Given the description of an element on the screen output the (x, y) to click on. 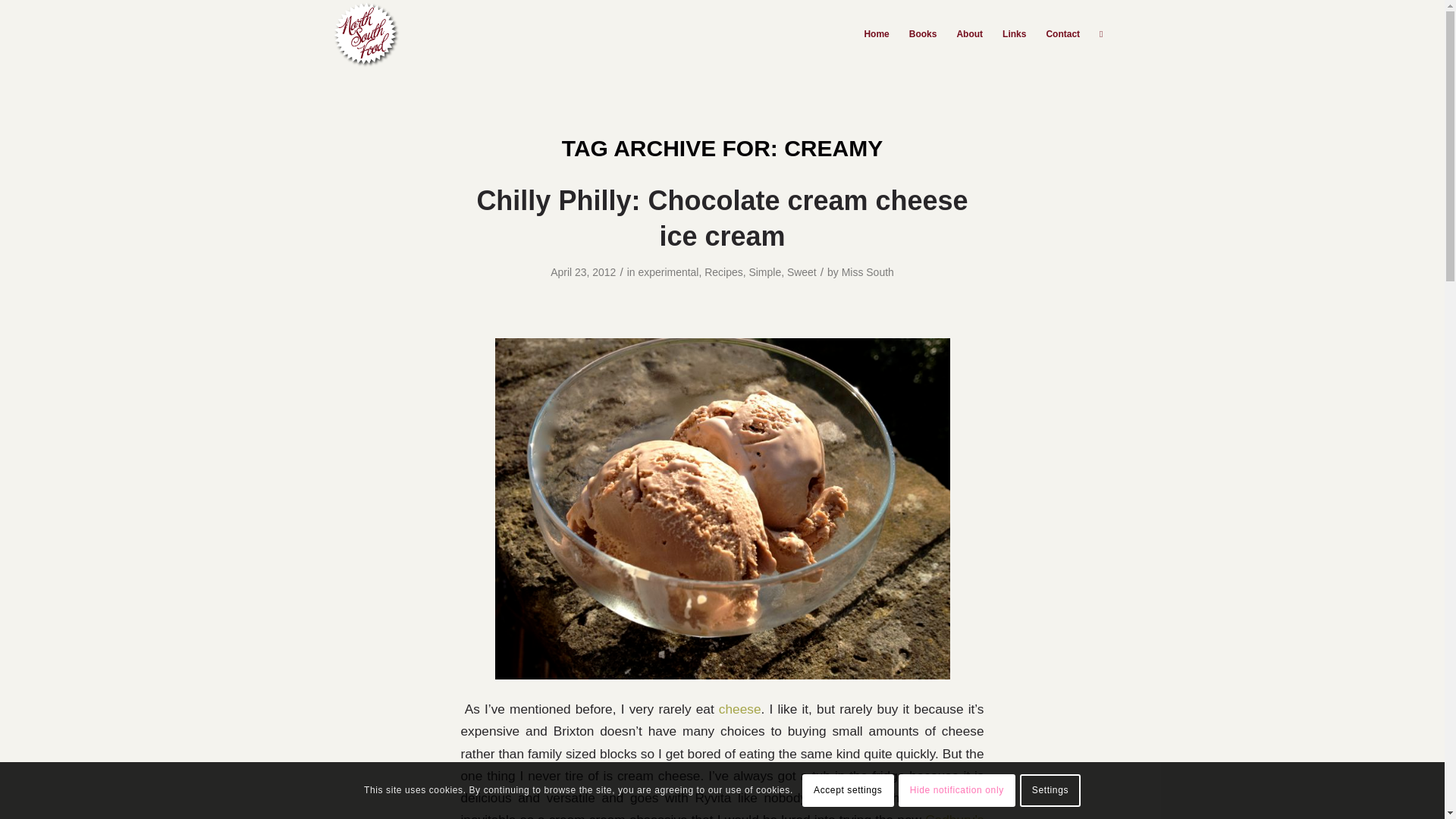
Accept settings (847, 789)
Hide notification only (956, 789)
experimental (667, 272)
Miss South (867, 272)
Posts by Miss South (867, 272)
Settings (1050, 789)
cheese (740, 708)
Sweet (801, 272)
